Given the description of an element on the screen output the (x, y) to click on. 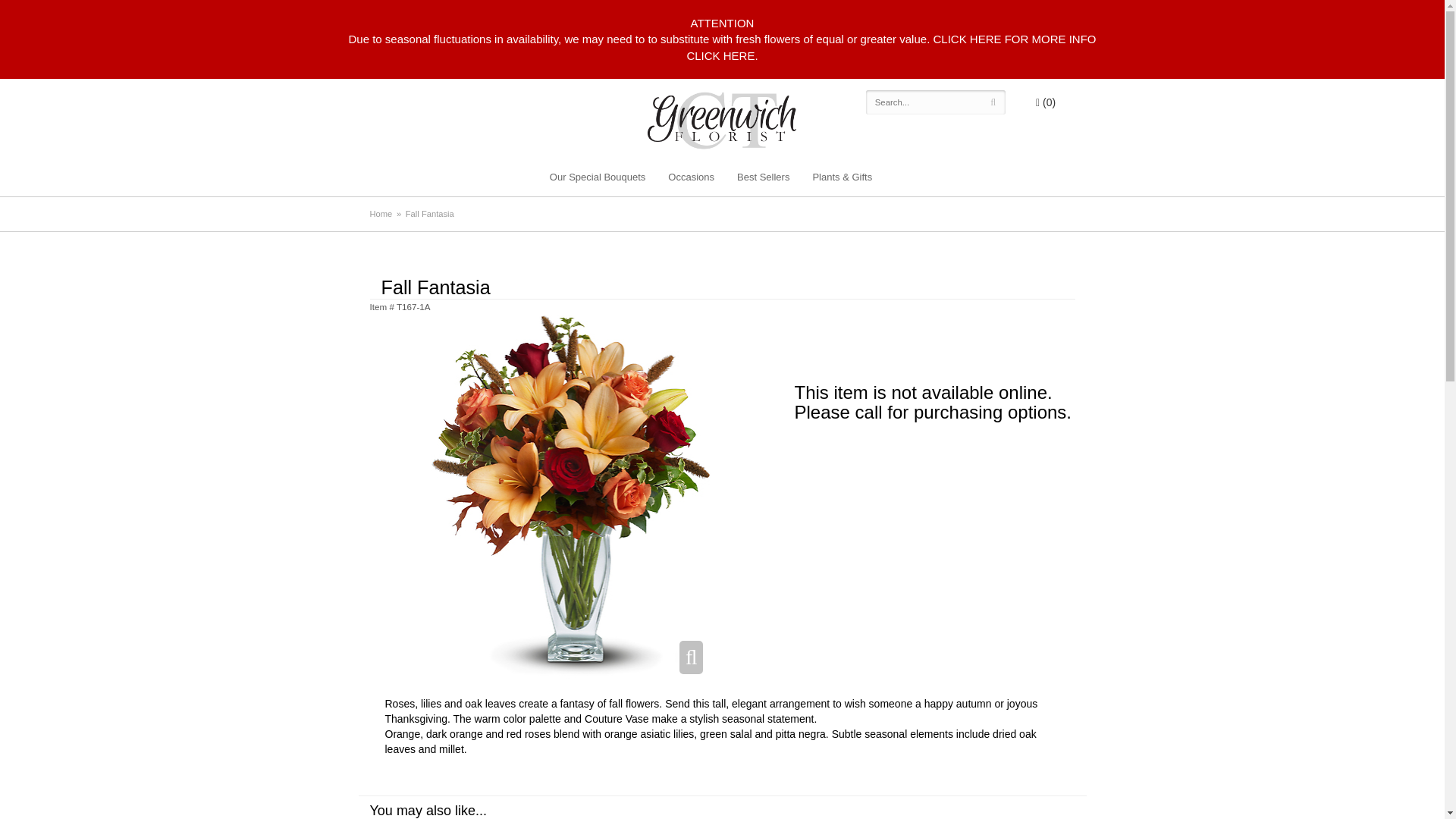
Best Sellers (762, 177)
Greenwich Ct Florist (727, 124)
Home (381, 213)
Occasions (690, 177)
CLICK HERE (719, 55)
Our Special Bouquets (597, 177)
